Given the description of an element on the screen output the (x, y) to click on. 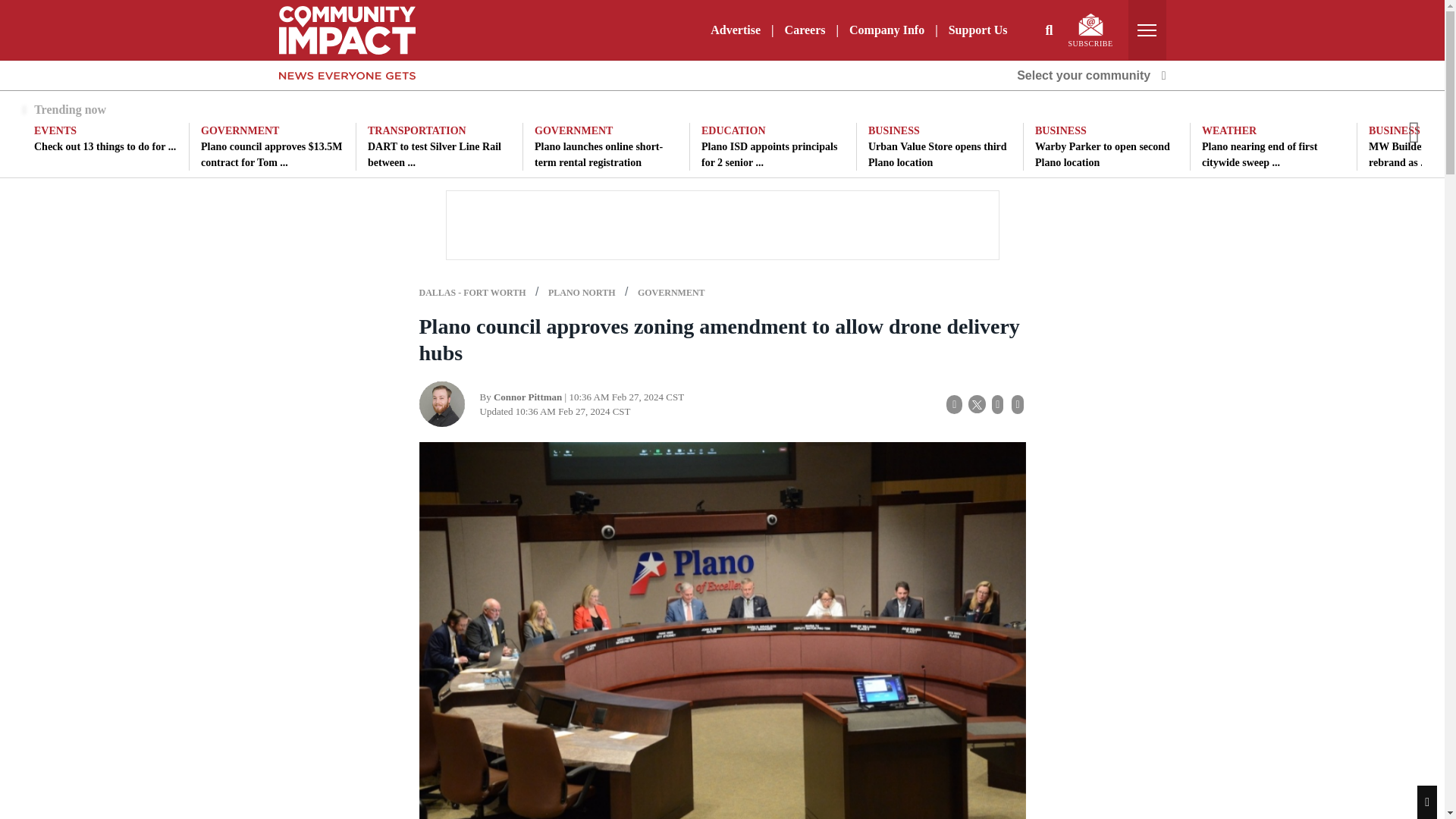
Advertise (735, 29)
Community Impact Newspaper (346, 29)
Careers (804, 29)
3rd party ad content (721, 224)
Company Info (886, 29)
SUBSCRIBE (1090, 30)
Support Us (977, 29)
Email Newsletter (1090, 24)
